Given the description of an element on the screen output the (x, y) to click on. 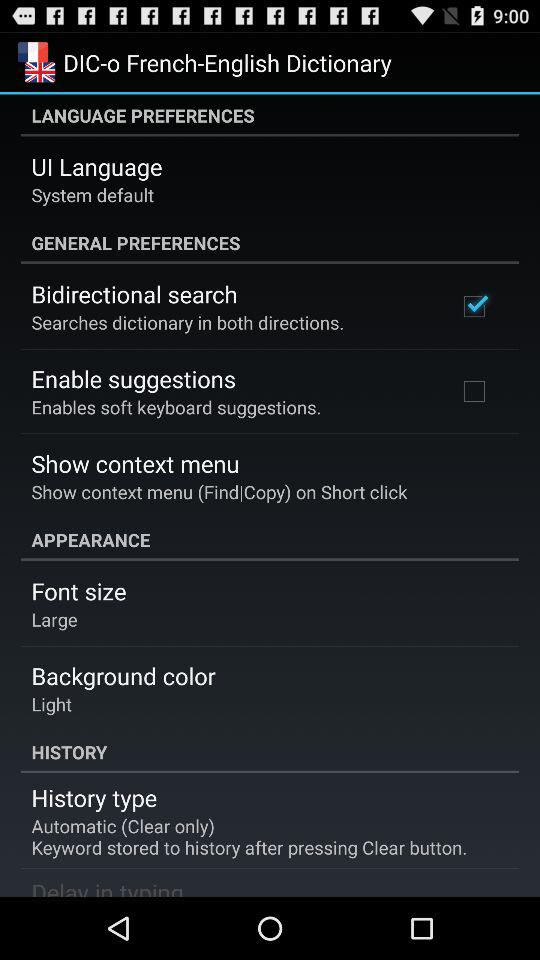
flip until the history type icon (94, 797)
